Given the description of an element on the screen output the (x, y) to click on. 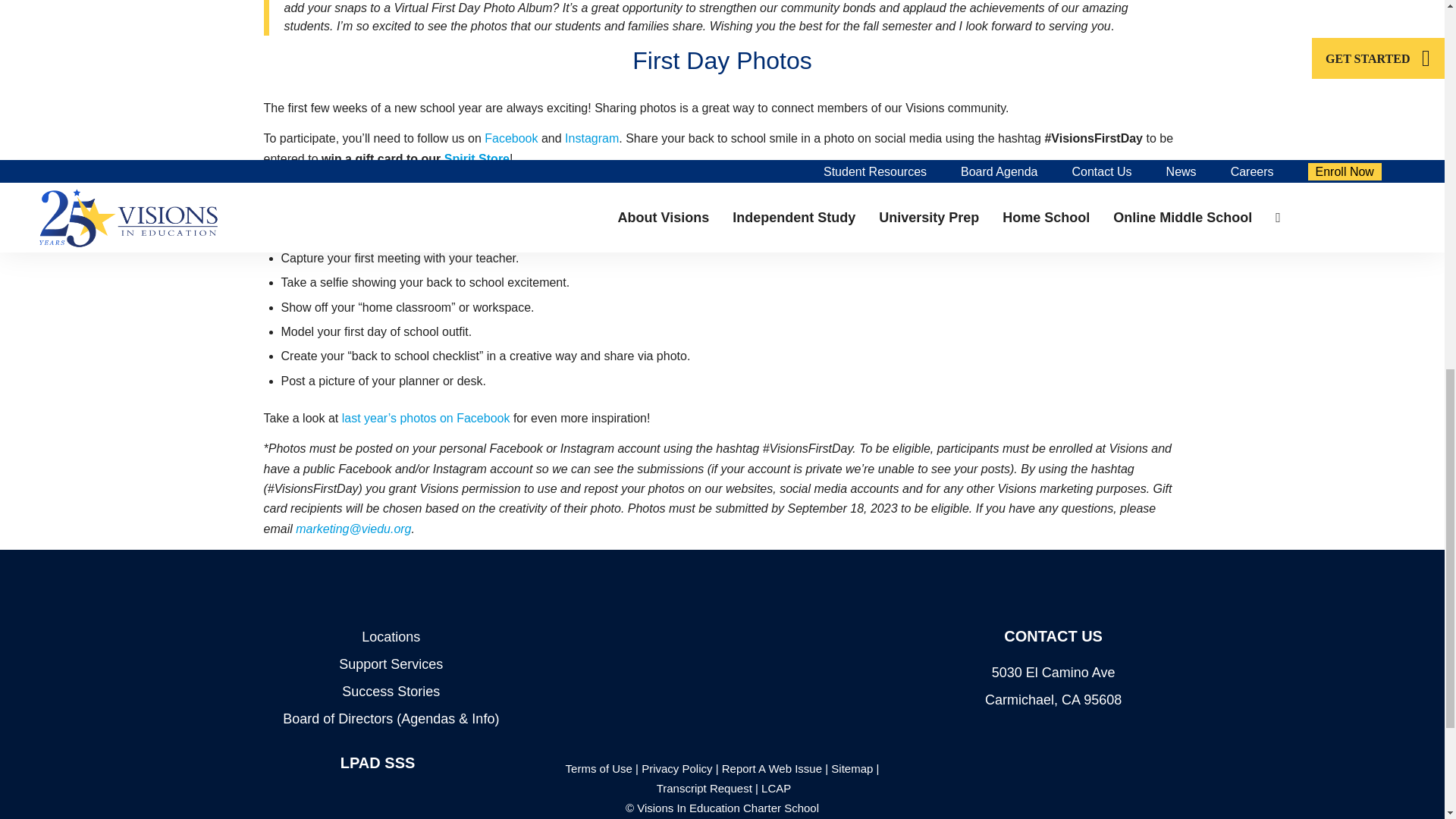
Visions In Education (721, 604)
